Given the description of an element on the screen output the (x, y) to click on. 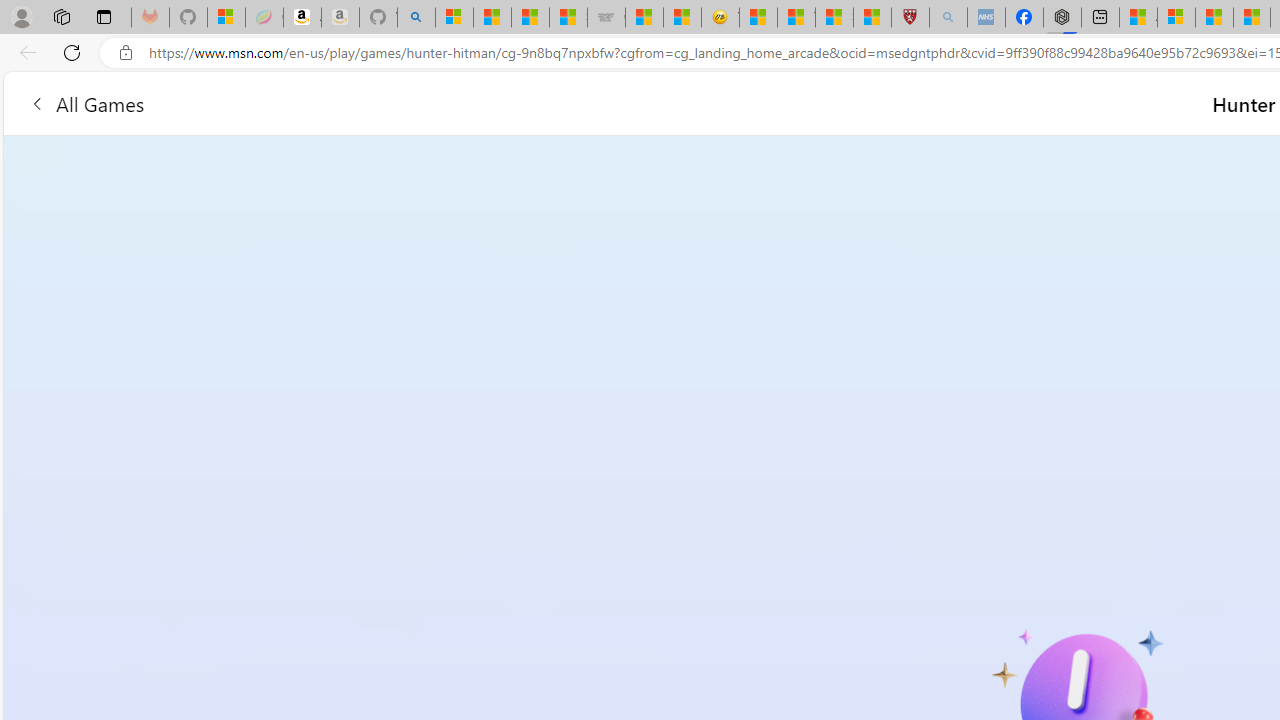
Nordace - Nordace Siena Is Not An Ordinary Backpack (1062, 17)
14 Common Myths Debunked By Scientific Facts (1251, 17)
Combat Siege (605, 17)
Robert H. Shmerling, MD - Harvard Health (910, 17)
